Given the description of an element on the screen output the (x, y) to click on. 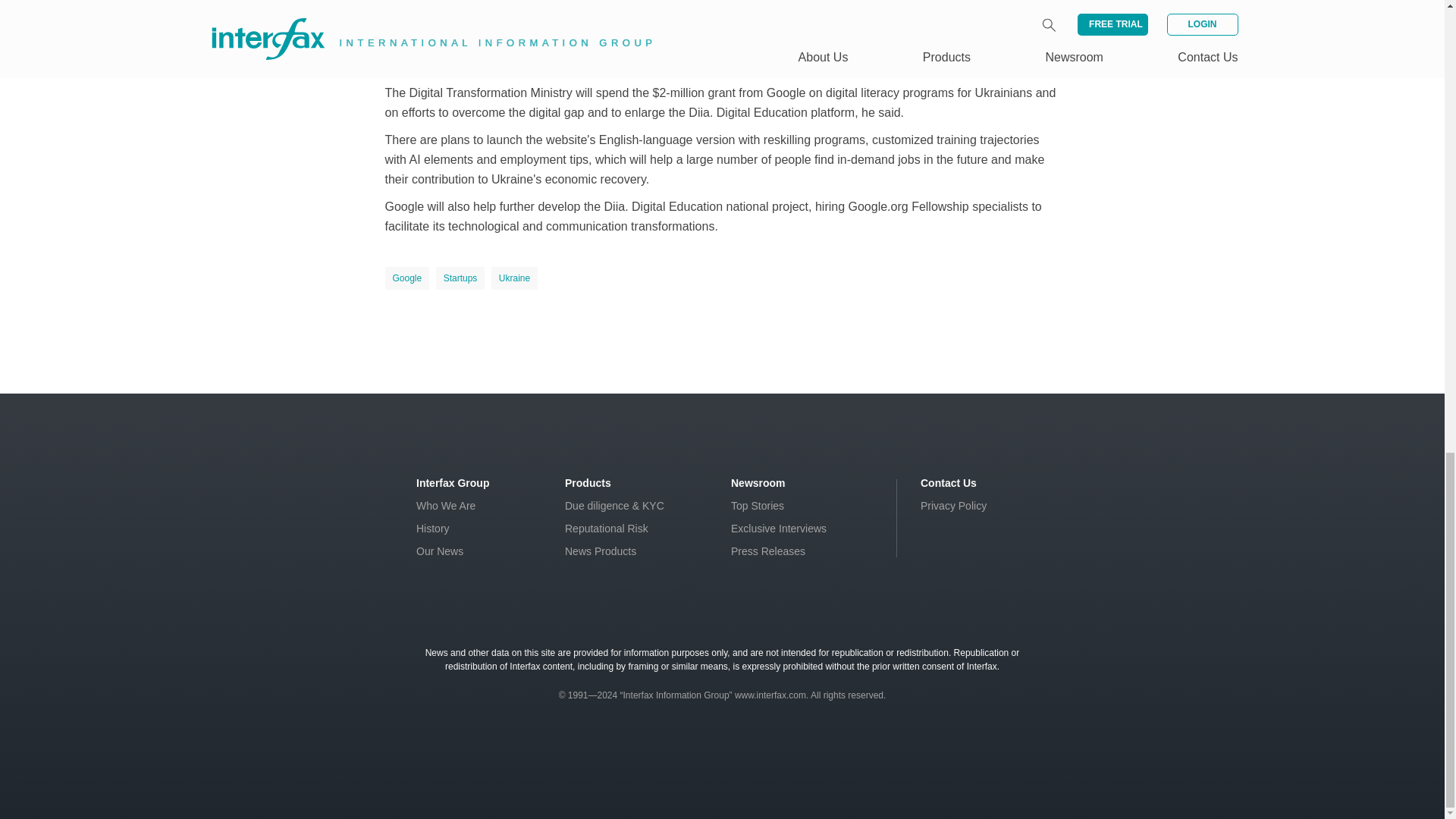
Ukraine (514, 277)
Google (407, 277)
Startups (459, 277)
Interfax Group (452, 482)
